Given the description of an element on the screen output the (x, y) to click on. 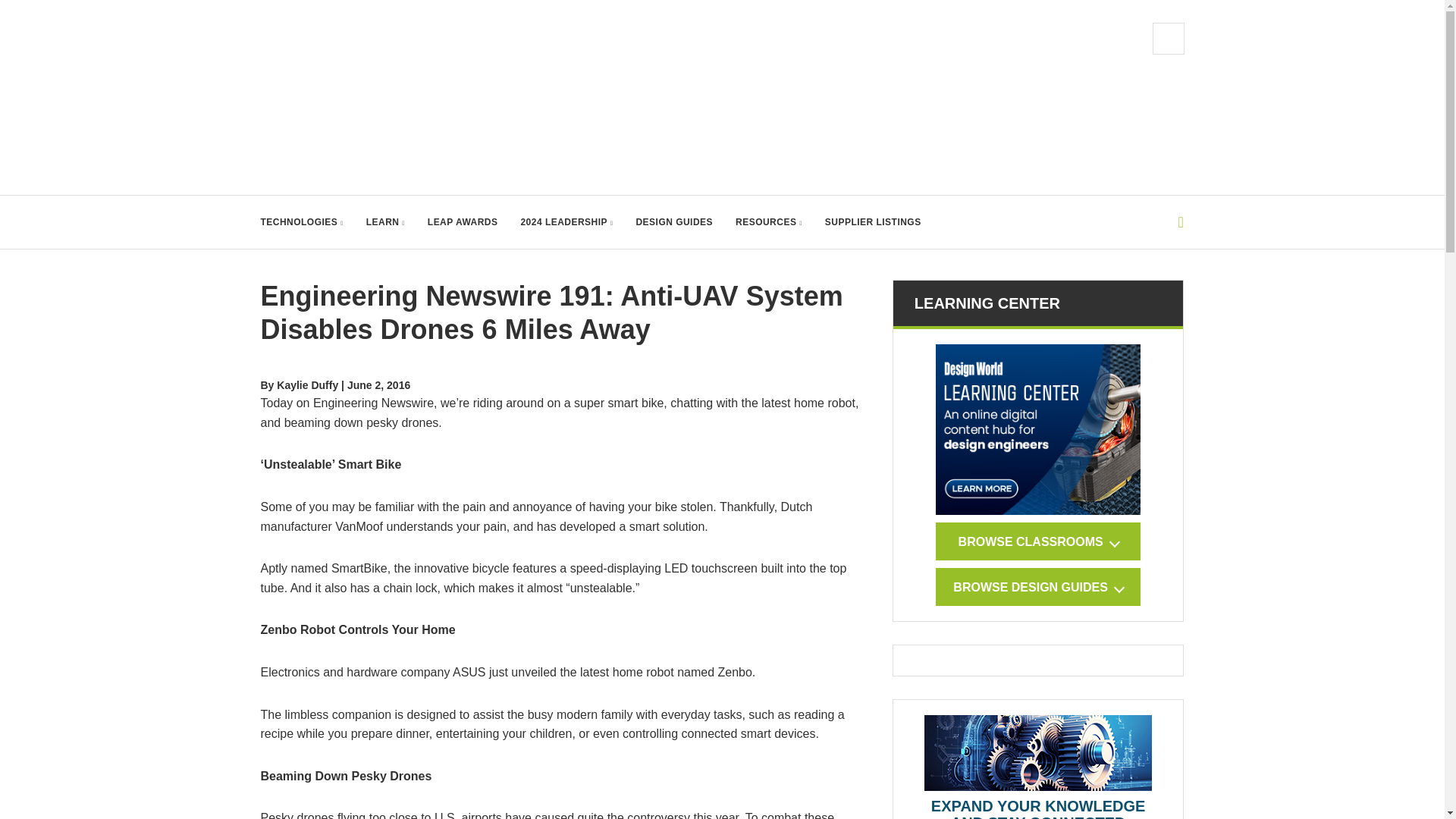
TECHNOLOGIES (301, 221)
LEAP AWARDS (462, 221)
SUPPLIER LISTINGS (873, 221)
DESIGN GUIDES (673, 221)
2024 LEADERSHIP (565, 221)
RESOURCES (768, 221)
Design World (412, 96)
